Given the description of an element on the screen output the (x, y) to click on. 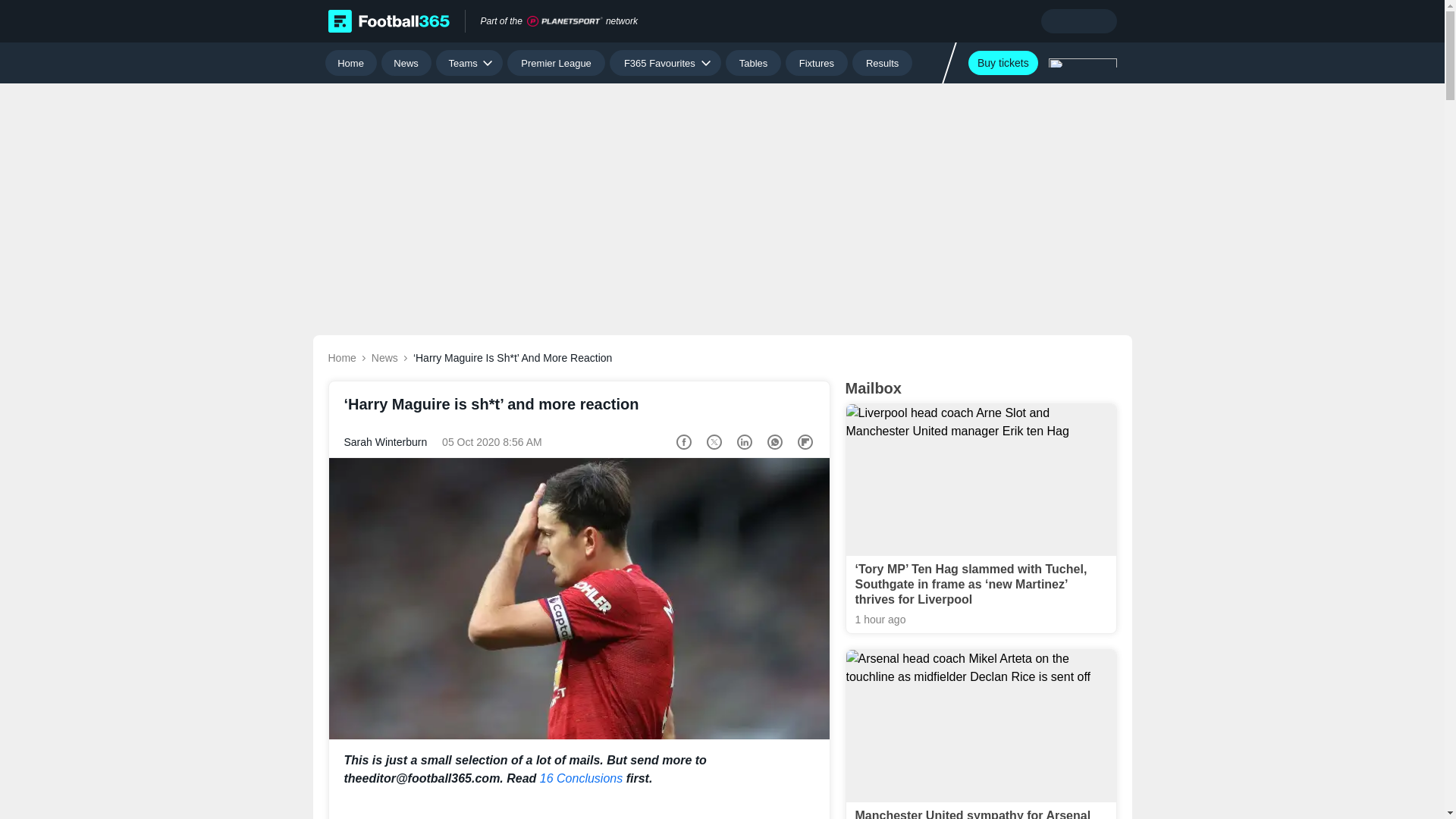
Fixtures (817, 62)
Tables (752, 62)
Premier League (555, 62)
F365 Favourites (665, 62)
Teams (468, 62)
Home (349, 62)
News (405, 62)
